Given the description of an element on the screen output the (x, y) to click on. 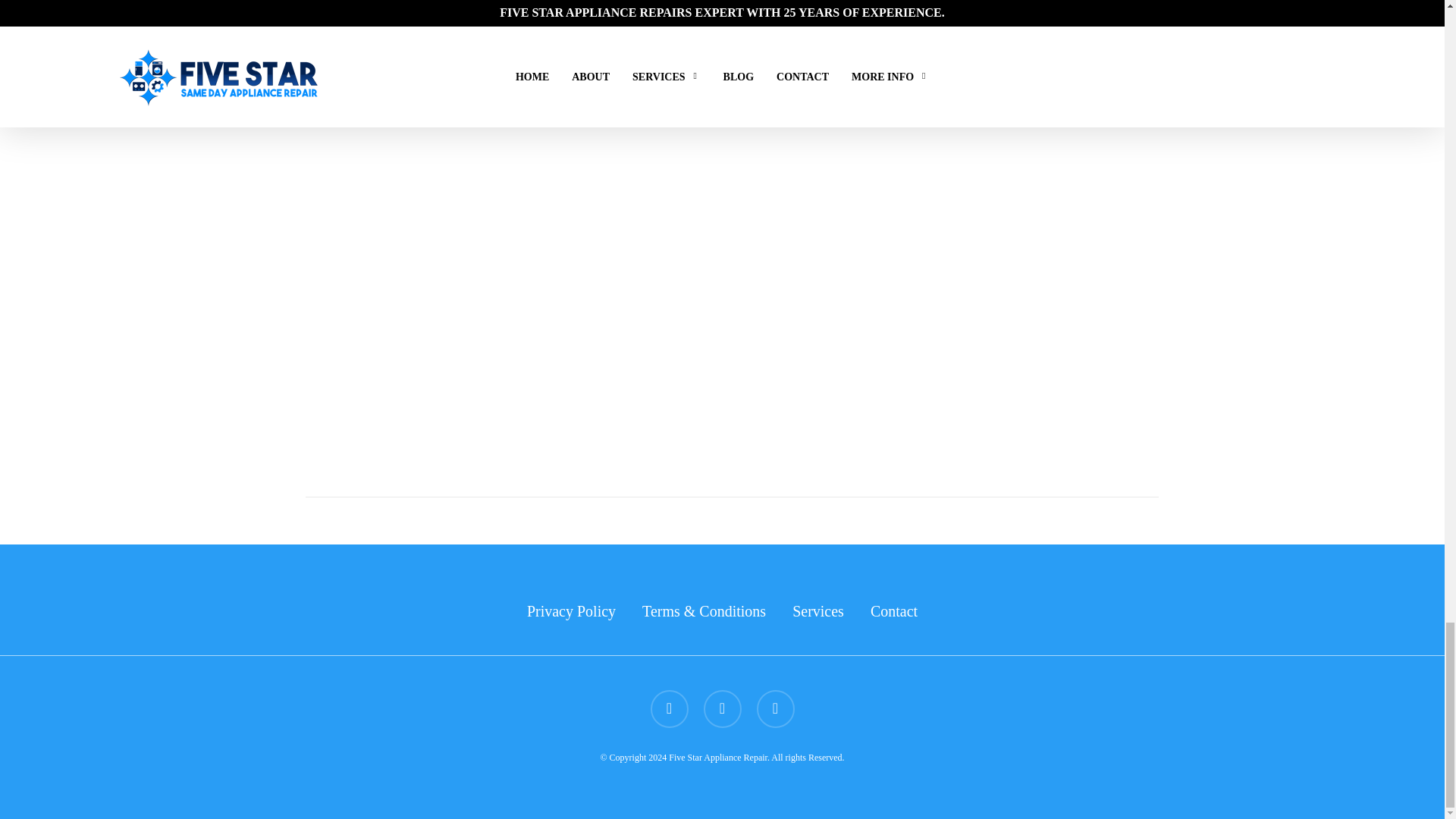
Services (818, 610)
twitter (669, 709)
instagram (775, 709)
Contact (893, 610)
facebook (722, 709)
Privacy Policy (571, 610)
